Given the description of an element on the screen output the (x, y) to click on. 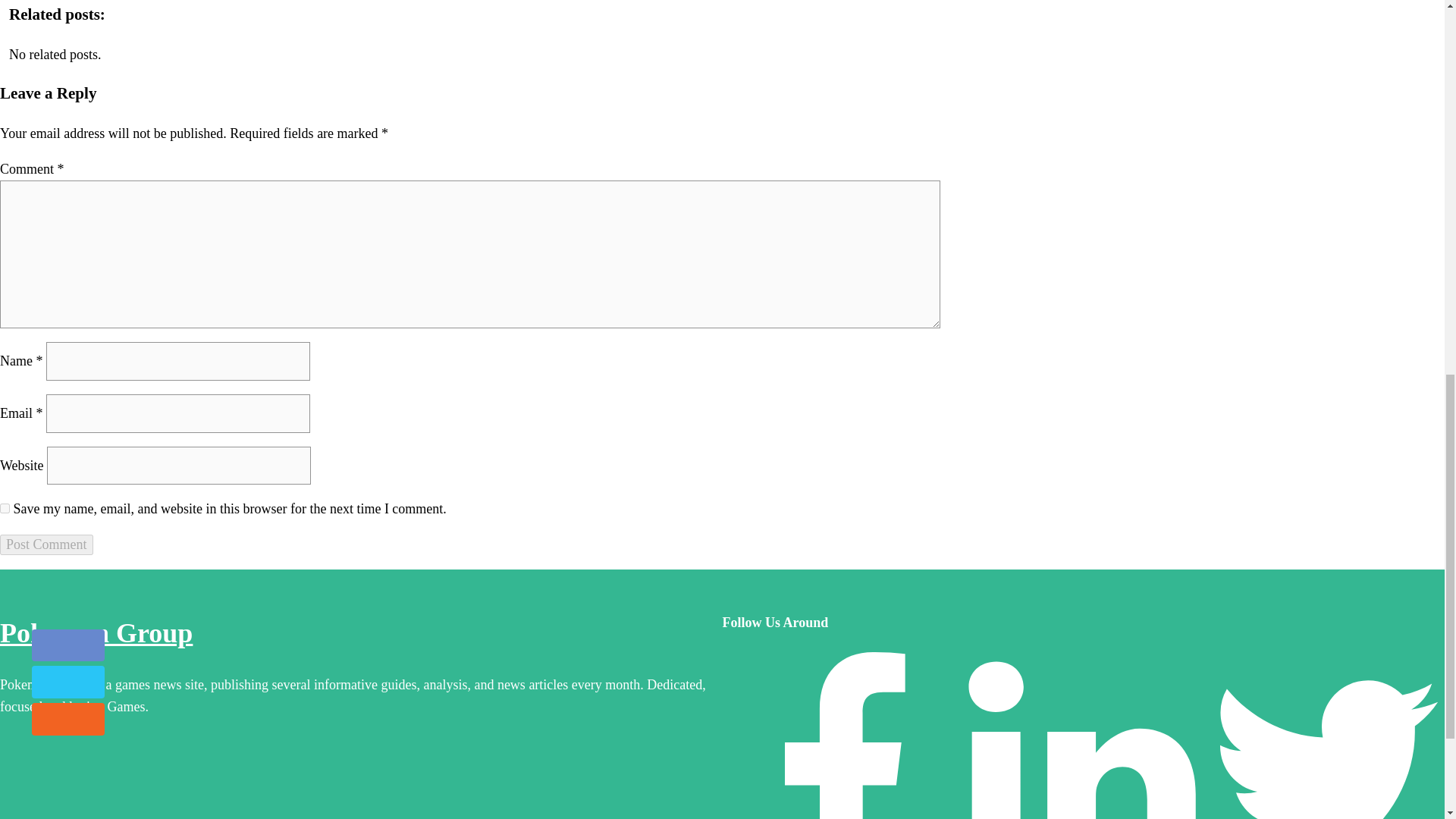
Post Comment (46, 544)
Pokemon Group (96, 633)
Post Comment (46, 544)
yes (5, 508)
